Given the description of an element on the screen output the (x, y) to click on. 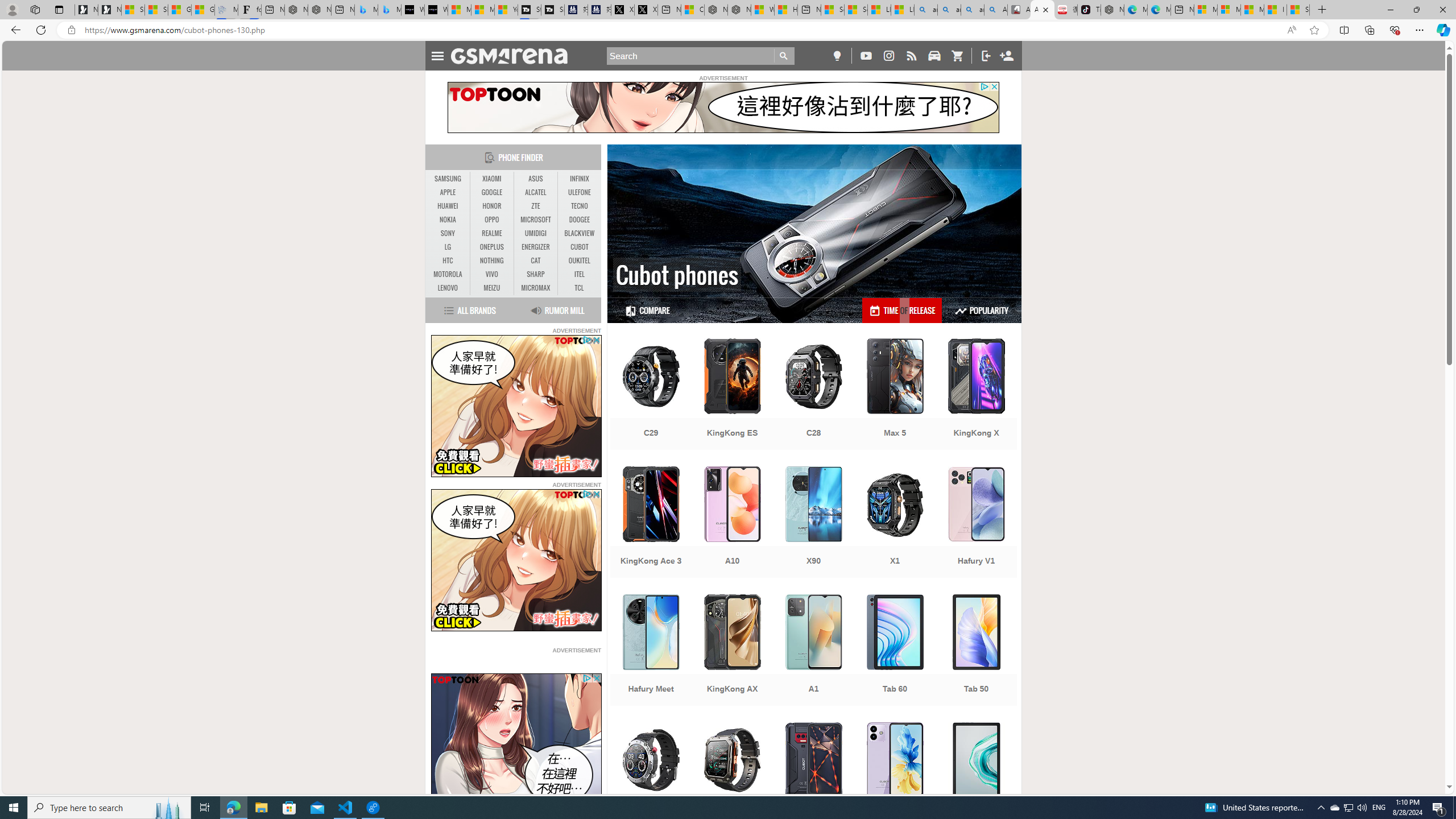
amazon - Search Images (972, 9)
NOTHING (491, 260)
ULEFONE (579, 192)
CAT (535, 260)
SHARP (535, 273)
